Given the description of an element on the screen output the (x, y) to click on. 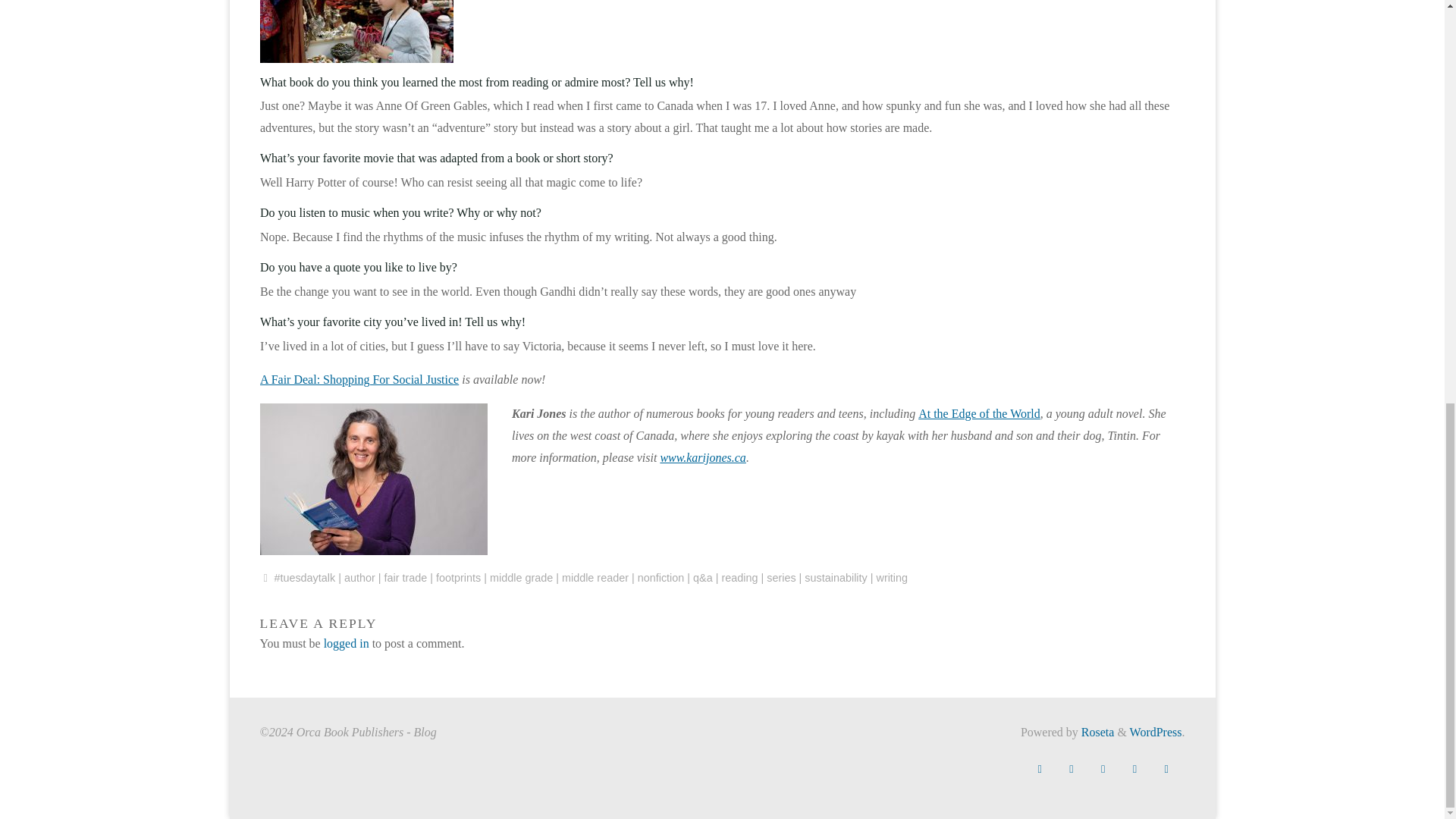
Twitter (1071, 768)
Instagram (1134, 768)
Roseta WordPress Theme by Cryout Creations (1096, 731)
Pinterest (1102, 768)
Semantic Personal Publishing Platform (1155, 731)
Facebook (1039, 768)
YouTube (1166, 768)
